Given the description of an element on the screen output the (x, y) to click on. 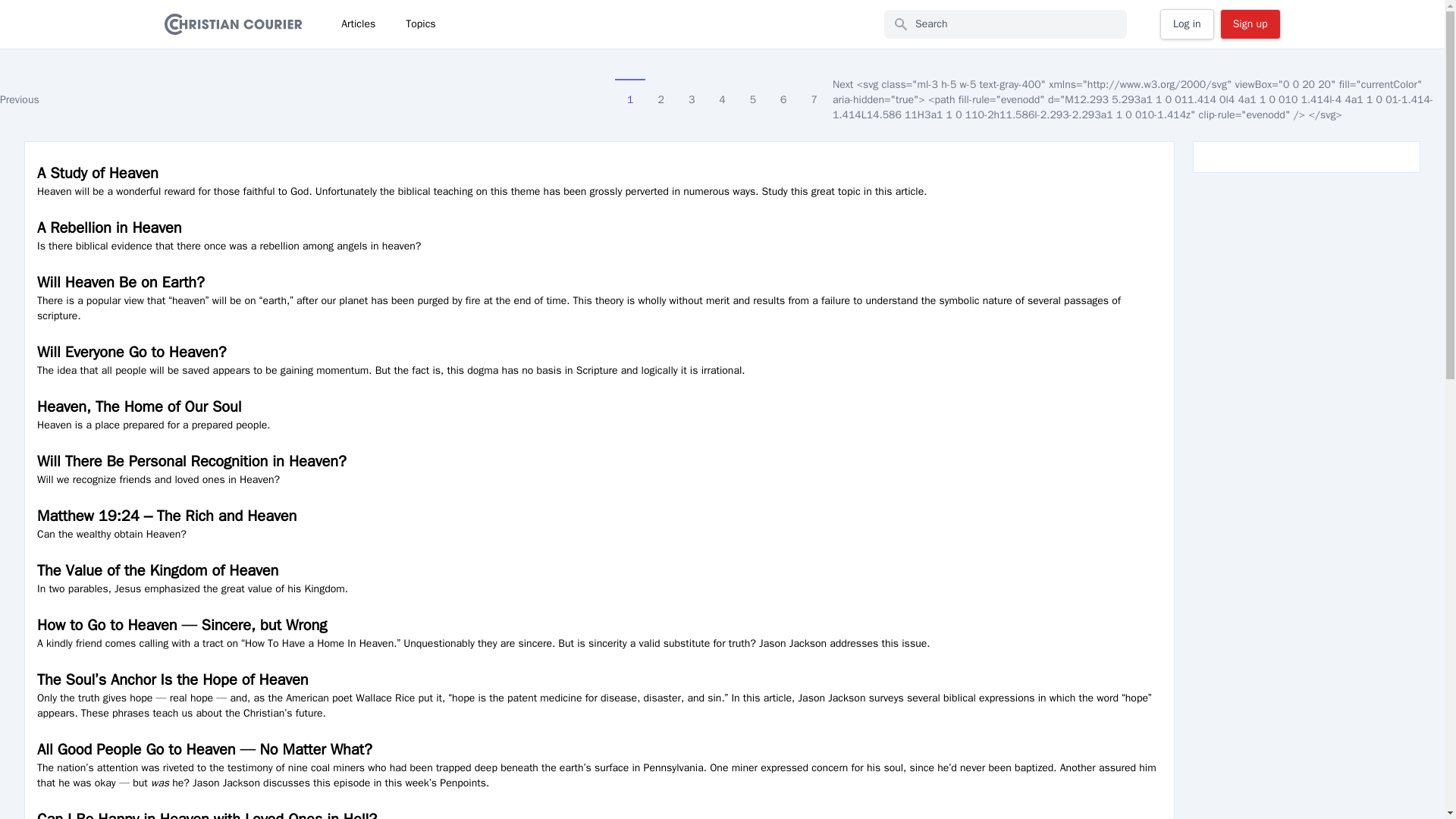
Topics (420, 23)
Sign up (1250, 24)
7 (814, 92)
6 (782, 92)
4 (721, 92)
2 (660, 92)
